Given the description of an element on the screen output the (x, y) to click on. 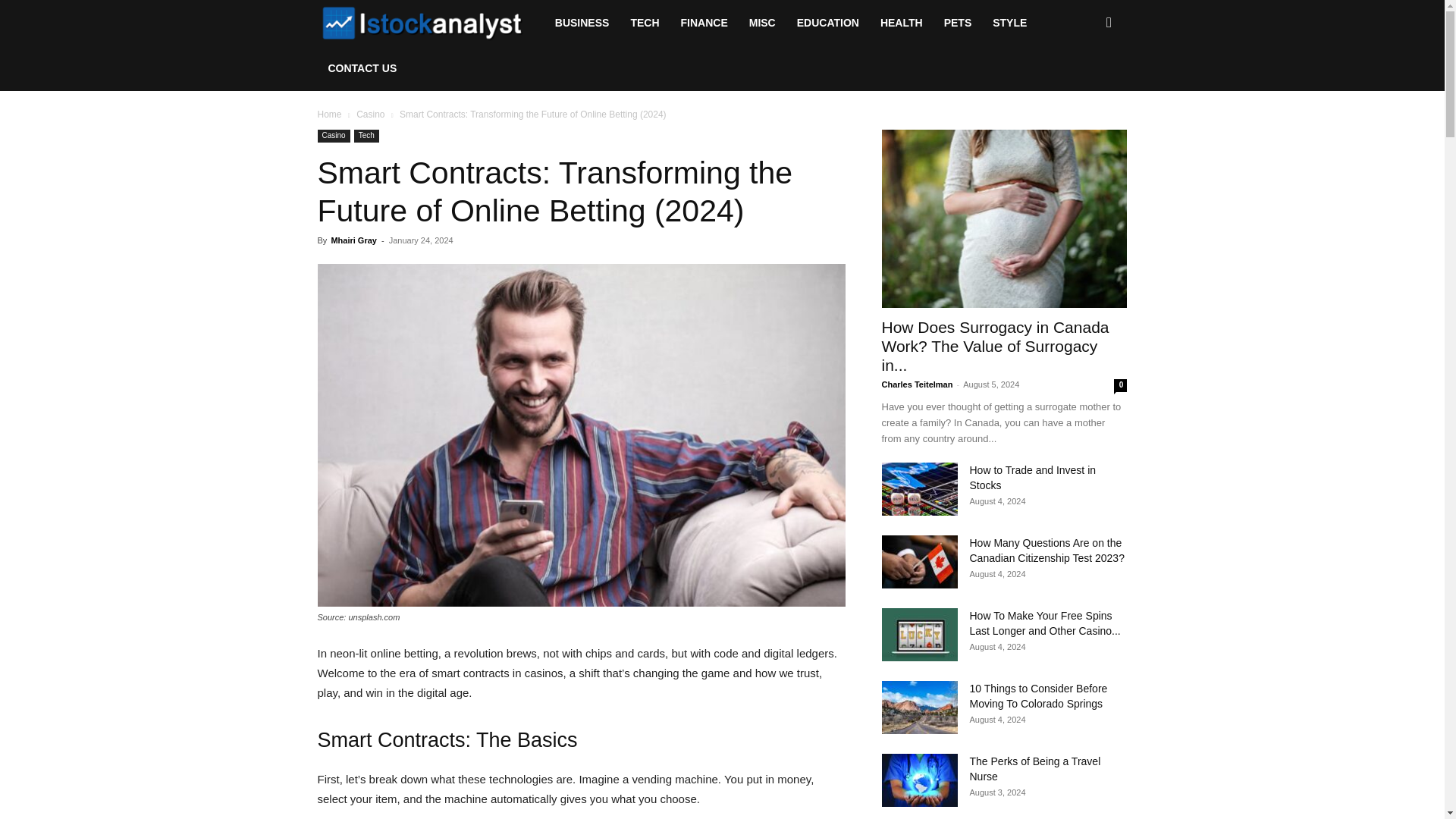
Search (1085, 87)
FINANCE (703, 22)
STYLE (1008, 22)
PETS (957, 22)
MISC (762, 22)
EDUCATION (827, 22)
Casino (370, 113)
TECH (644, 22)
View all posts in Casino (370, 113)
Mhairi Gray (353, 239)
HEALTH (901, 22)
Tech (365, 135)
Casino (333, 135)
